Given the description of an element on the screen output the (x, y) to click on. 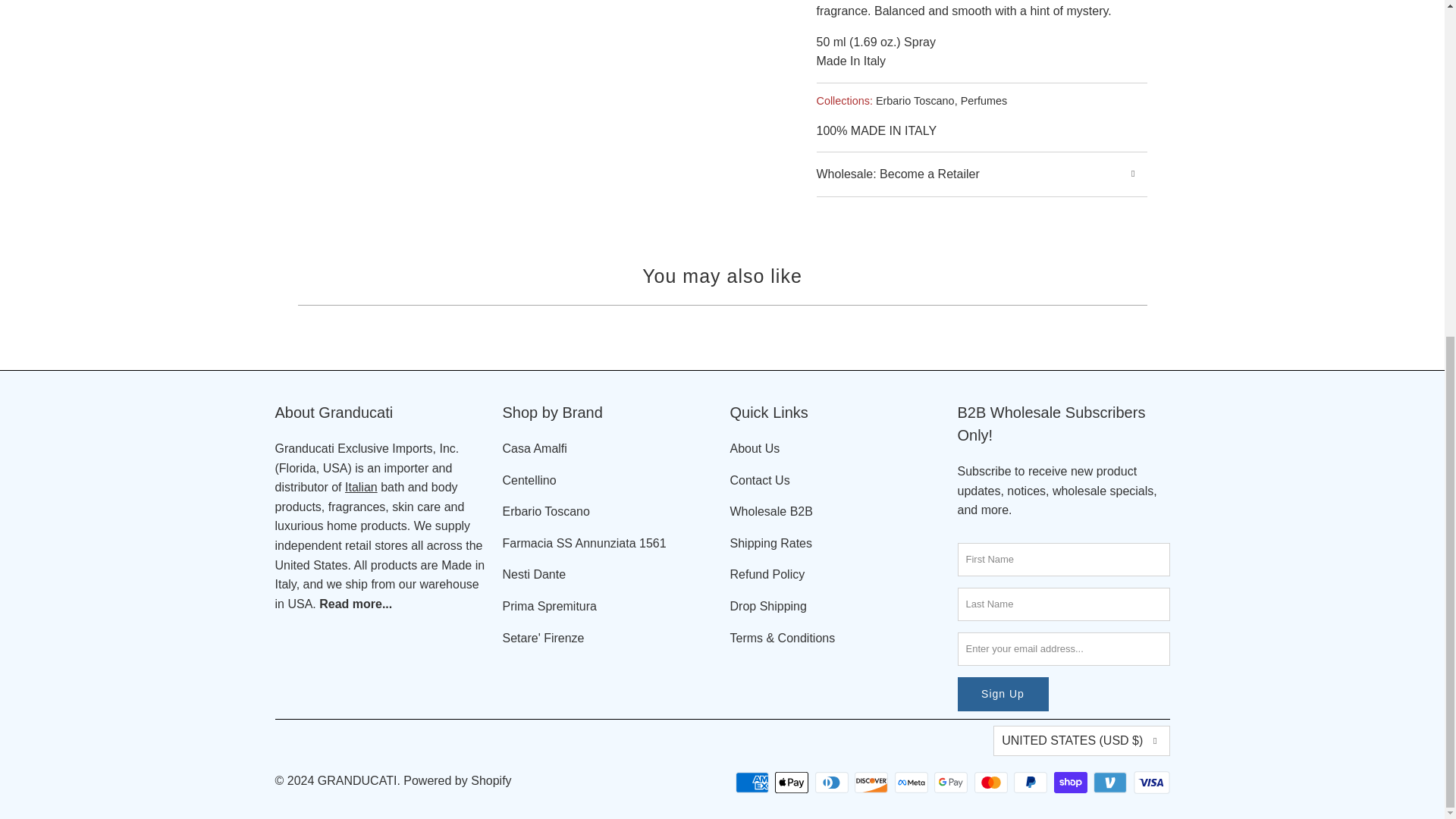
Meta Pay (913, 782)
Visa (1150, 782)
About Us (354, 603)
Mastercard (992, 782)
Perfumes (983, 101)
Sign Up (1002, 694)
Shop Pay (1072, 782)
Apple Pay (792, 782)
Diners Club (833, 782)
Discover (872, 782)
